Given the description of an element on the screen output the (x, y) to click on. 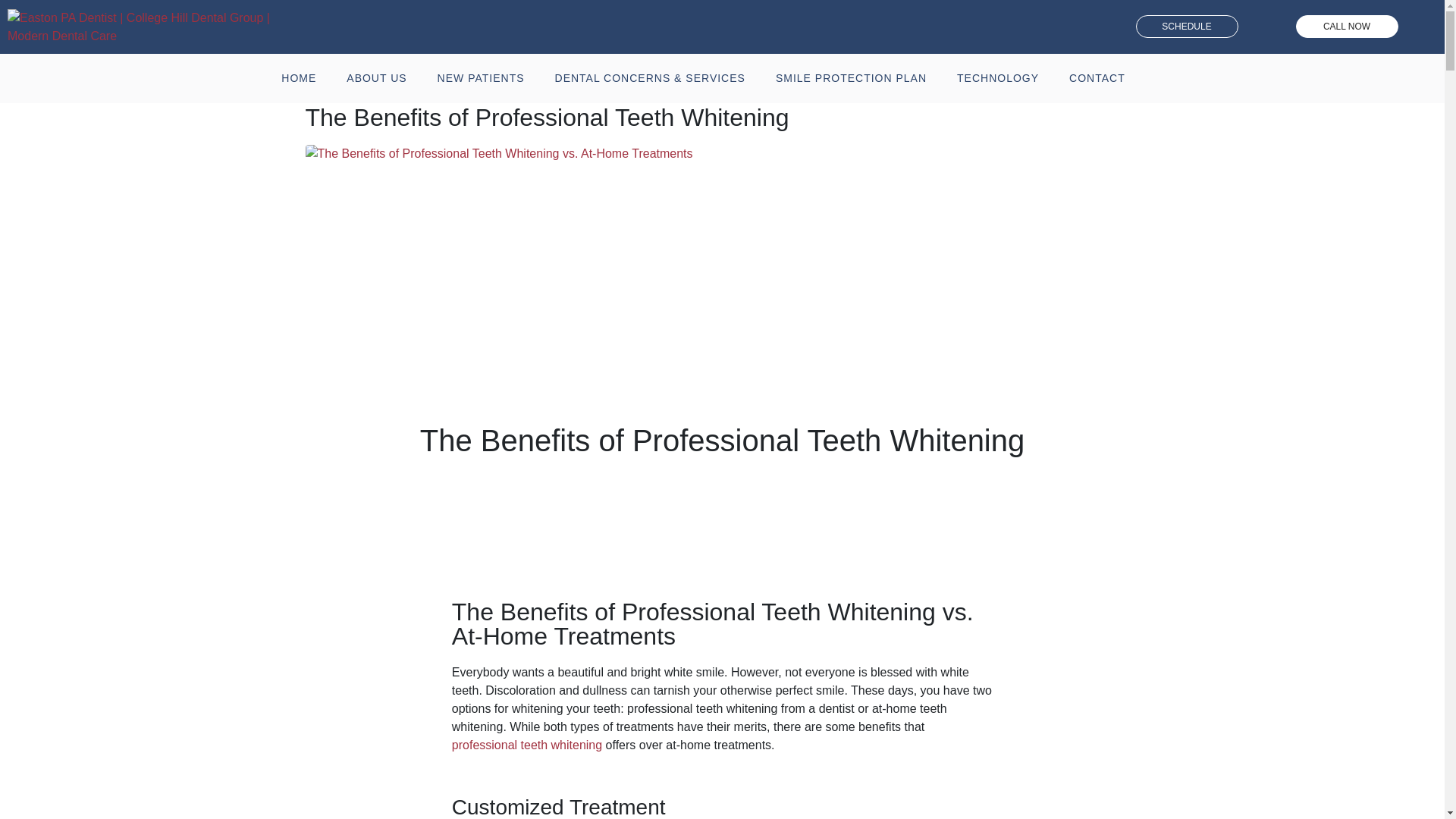
CONTACT (1097, 78)
The Benefits of Professional Teeth Whitening (498, 152)
SCHEDULE (1187, 26)
HOME (299, 78)
The Benefits of Professional Teeth Whitening (546, 117)
TECHNOLOGY (997, 78)
ABOUT US (376, 78)
CALL NOW (1346, 26)
NEW PATIENTS (480, 78)
SMILE PROTECTION PLAN (850, 78)
